Given the description of an element on the screen output the (x, y) to click on. 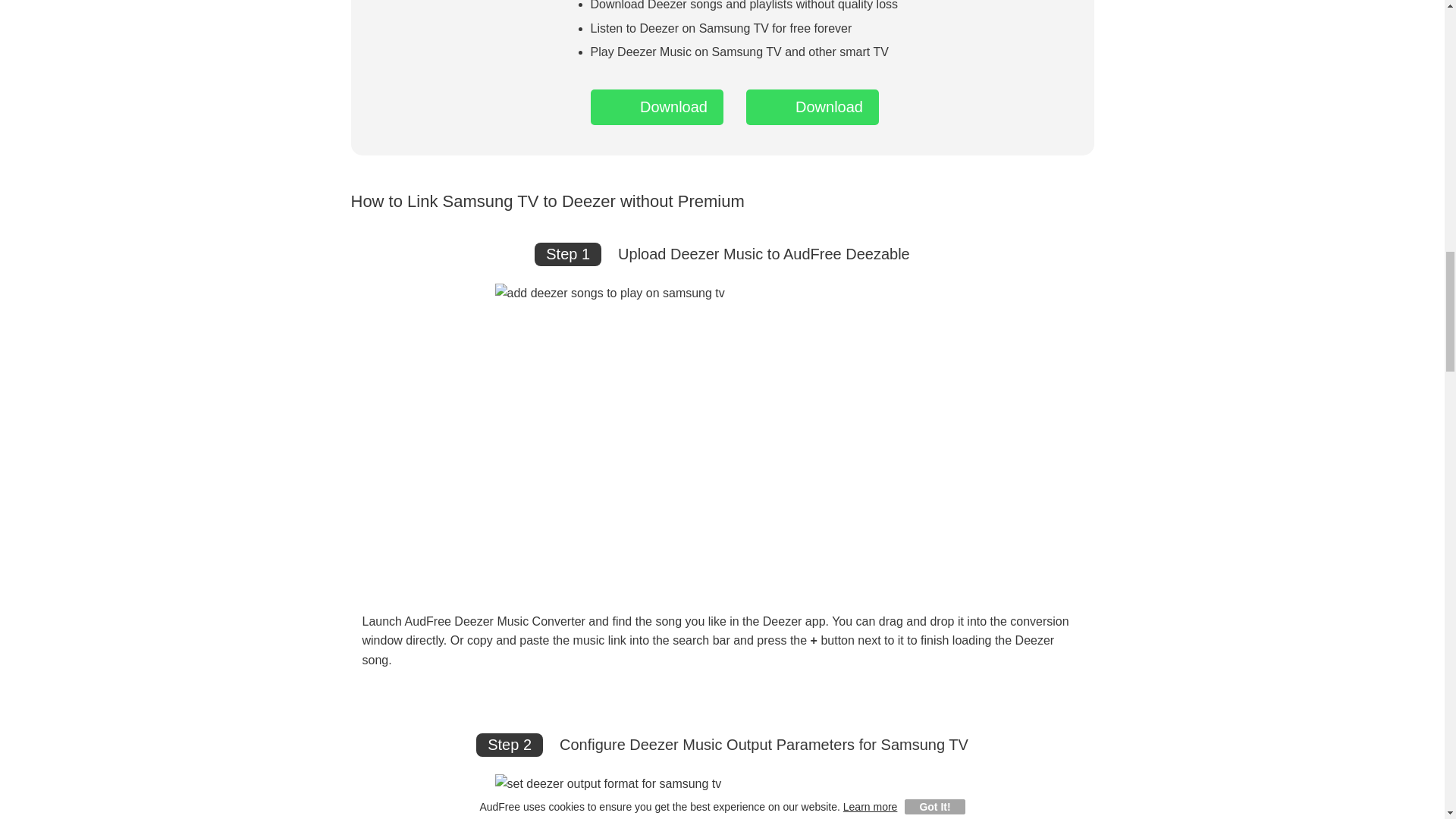
Download (655, 107)
Download (812, 107)
